Given the description of an element on the screen output the (x, y) to click on. 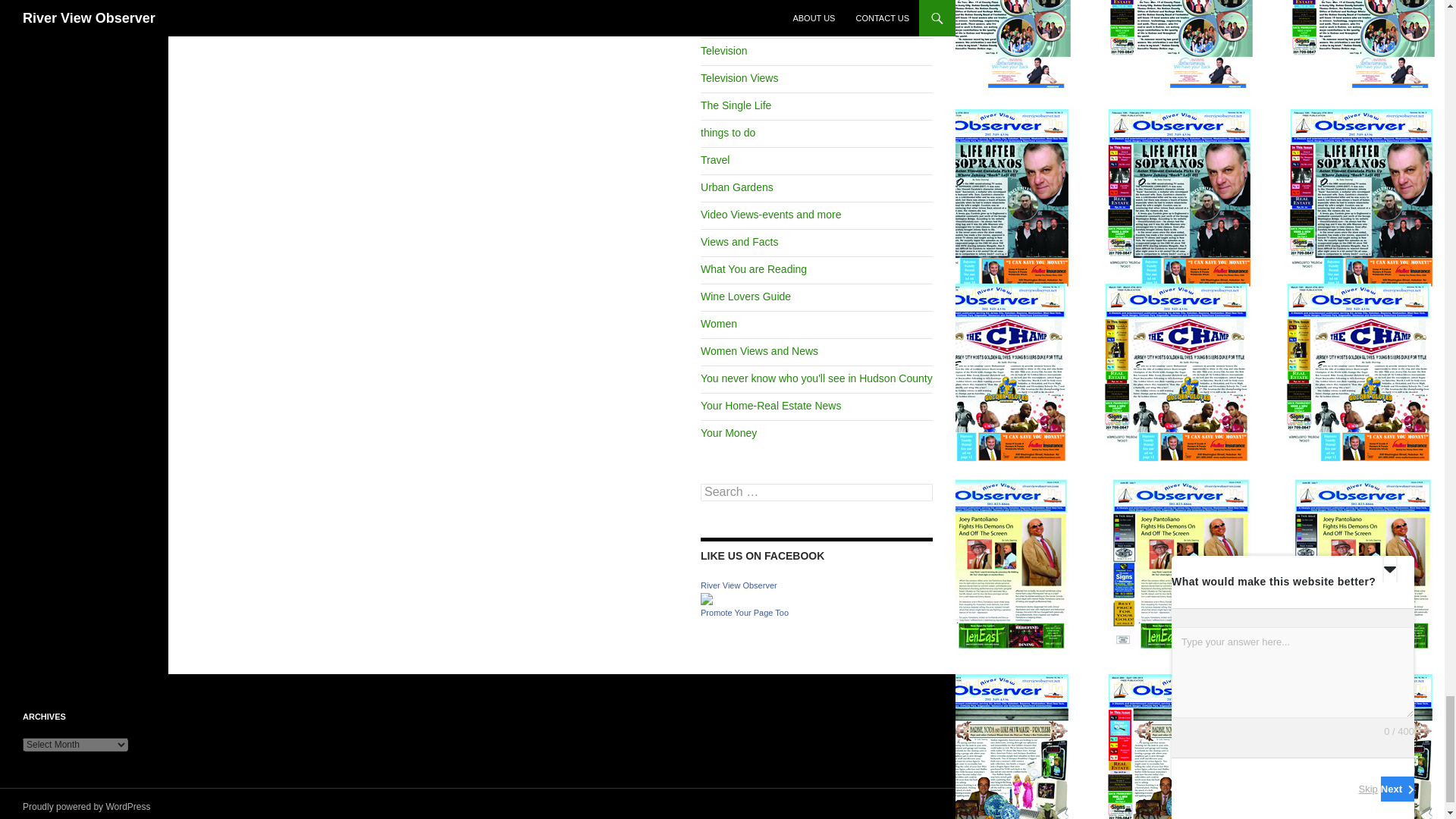
River View Observer (738, 584)
Make your own badge! (744, 612)
River View Observer (706, 598)
